Given the description of an element on the screen output the (x, y) to click on. 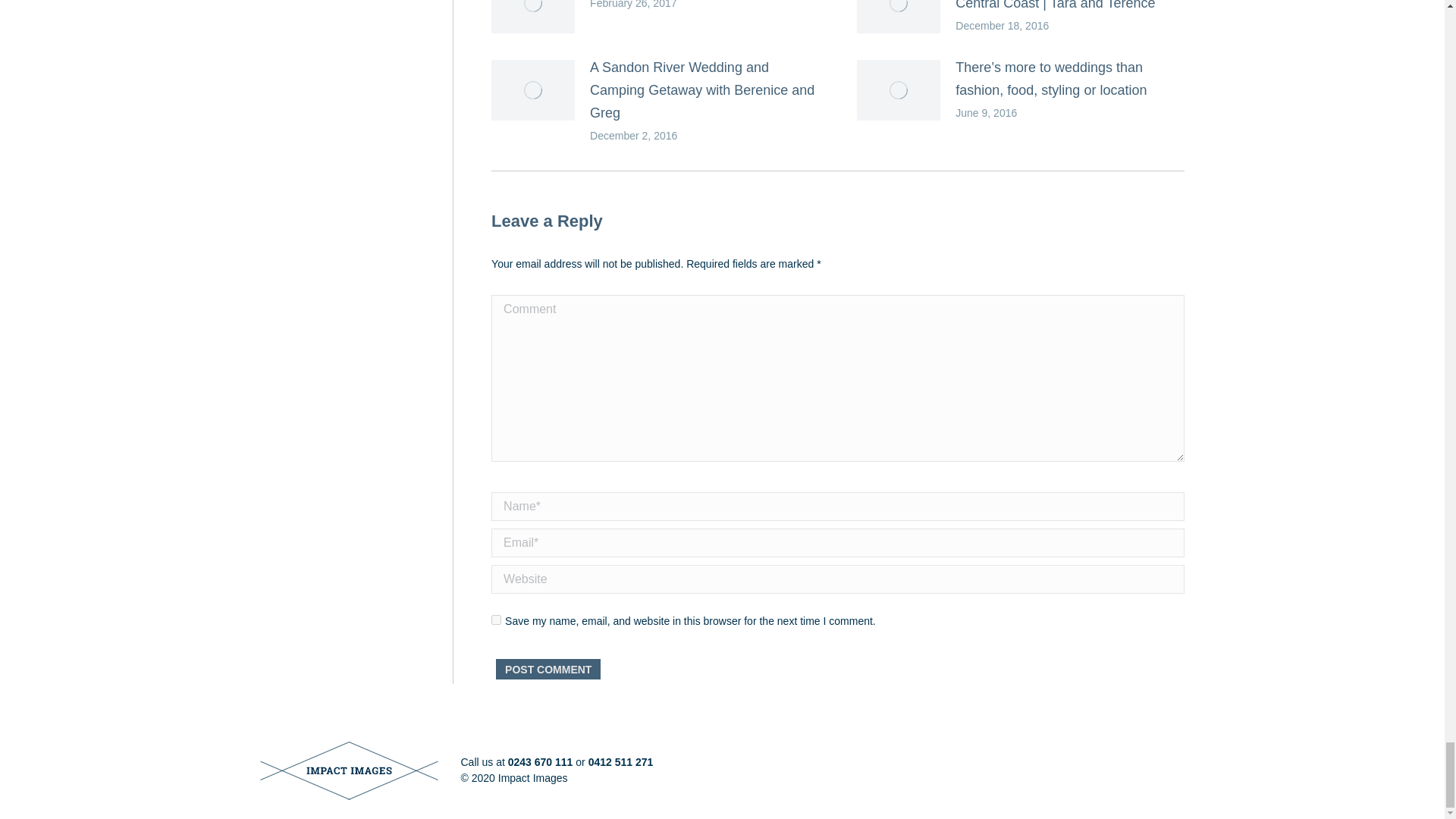
yes (496, 619)
